Given the description of an element on the screen output the (x, y) to click on. 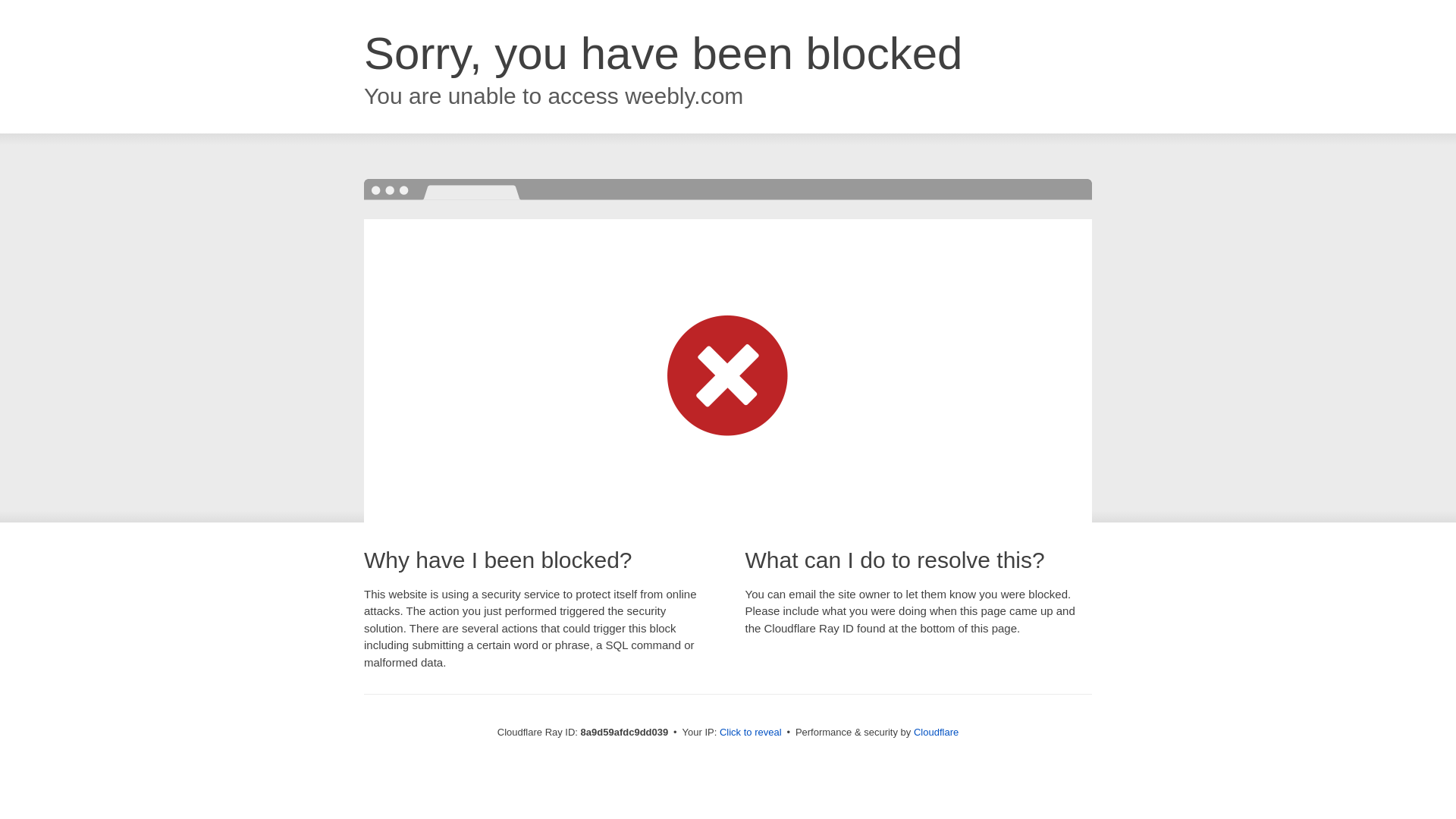
Cloudflare (936, 731)
Click to reveal (750, 732)
